Given the description of an element on the screen output the (x, y) to click on. 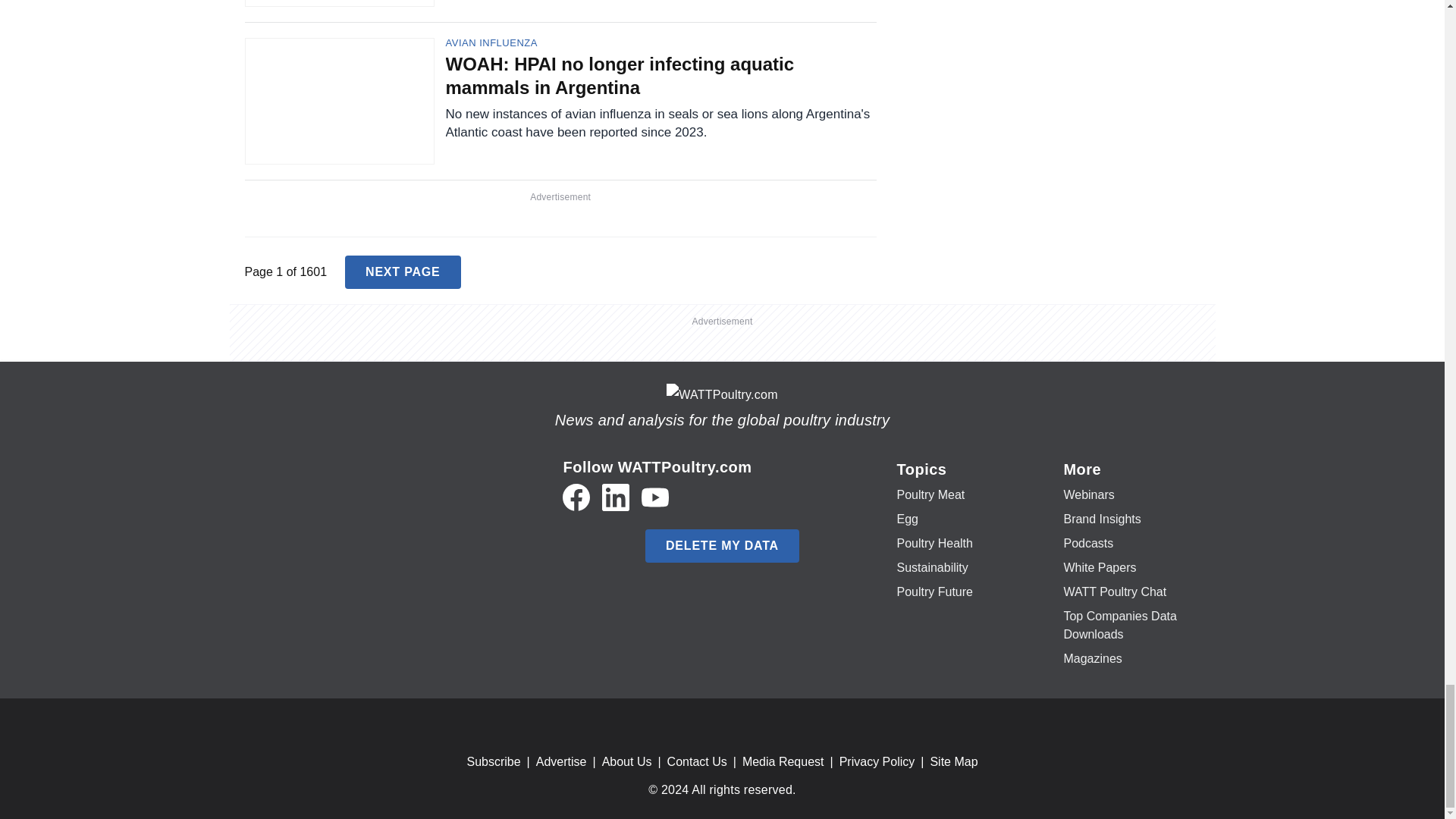
Facebook icon (575, 497)
LinkedIn icon (615, 497)
YouTube icon (655, 497)
